Given the description of an element on the screen output the (x, y) to click on. 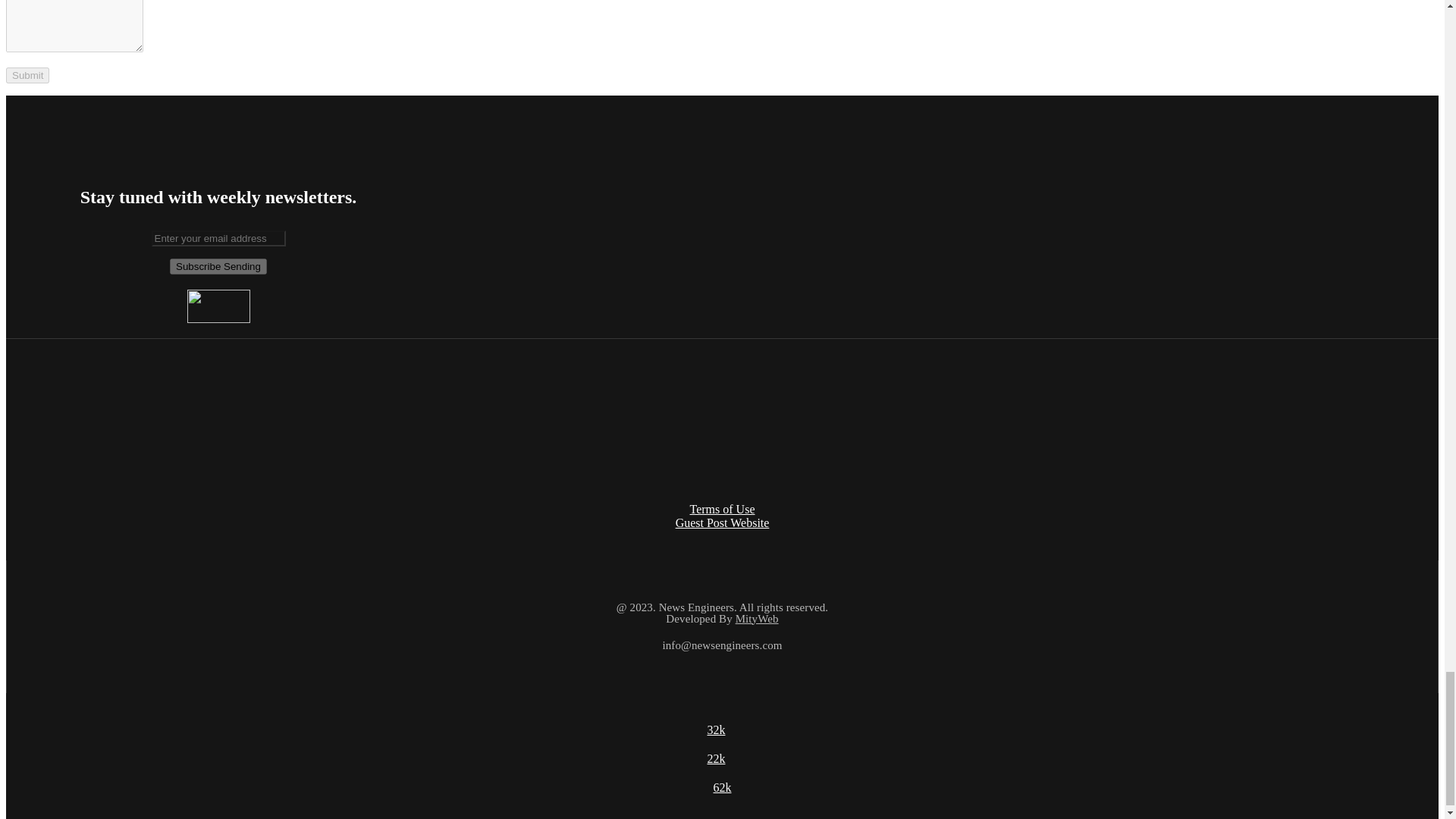
Terms of Use (722, 508)
MityWeb (756, 618)
Guest Post Website (722, 522)
Submit (27, 75)
Subscribe Sending (218, 266)
22k (715, 758)
62k (721, 787)
32k (715, 729)
Submit (27, 75)
